Given the description of an element on the screen output the (x, y) to click on. 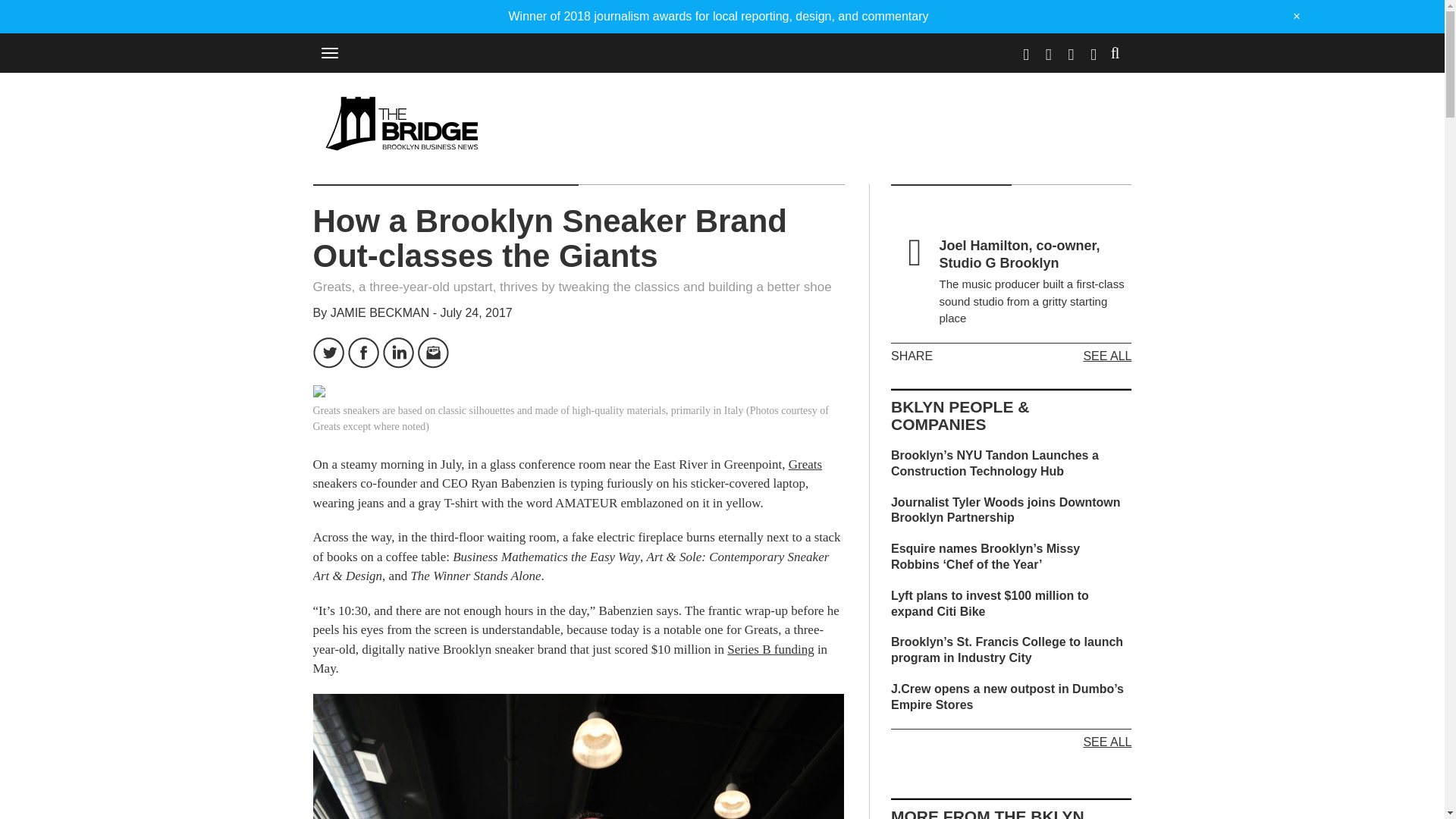
Print This Post (467, 352)
Series B funding (769, 649)
Greats (805, 464)
